Given the description of an element on the screen output the (x, y) to click on. 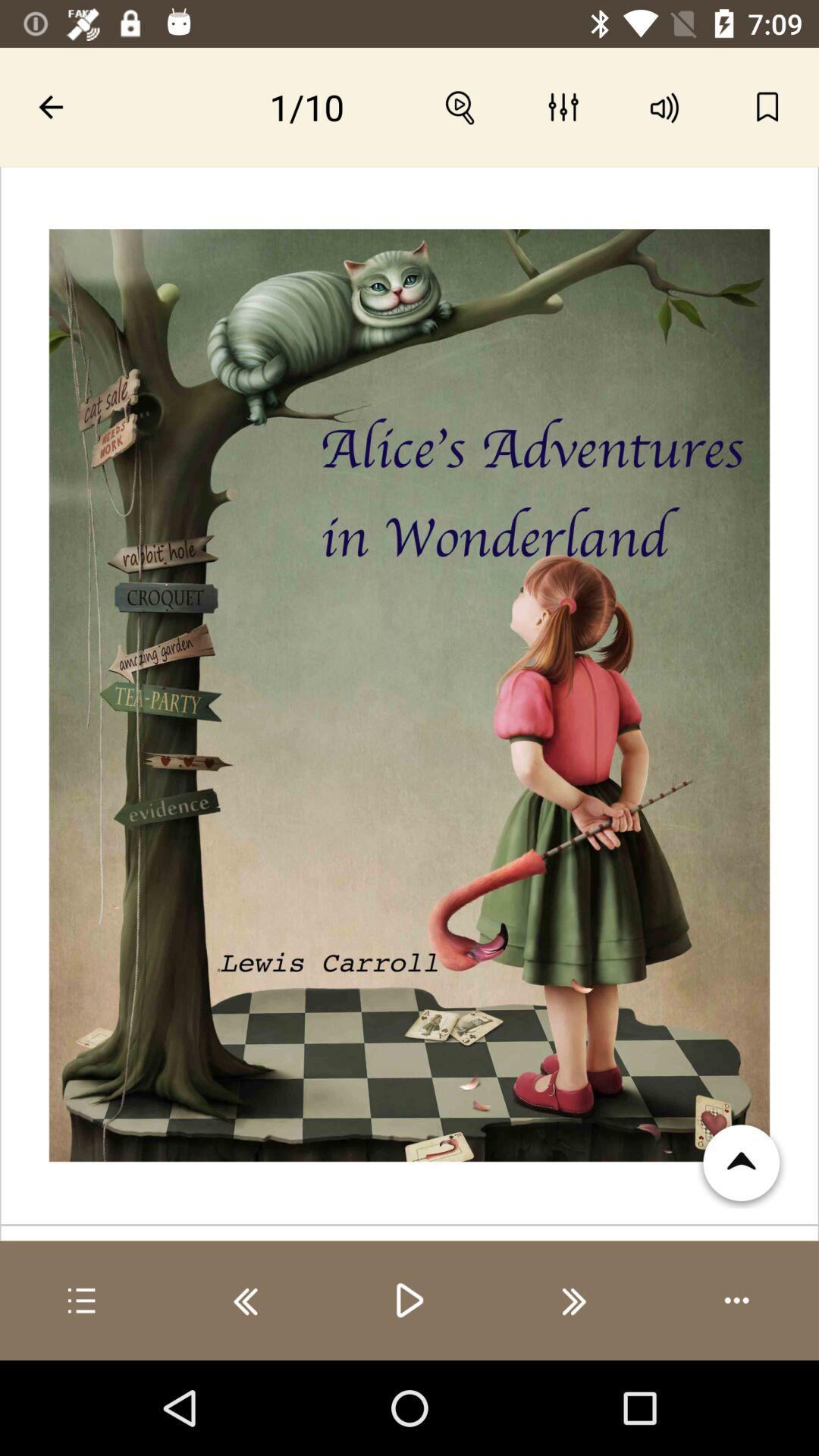
see playlist (81, 1300)
